Given the description of an element on the screen output the (x, y) to click on. 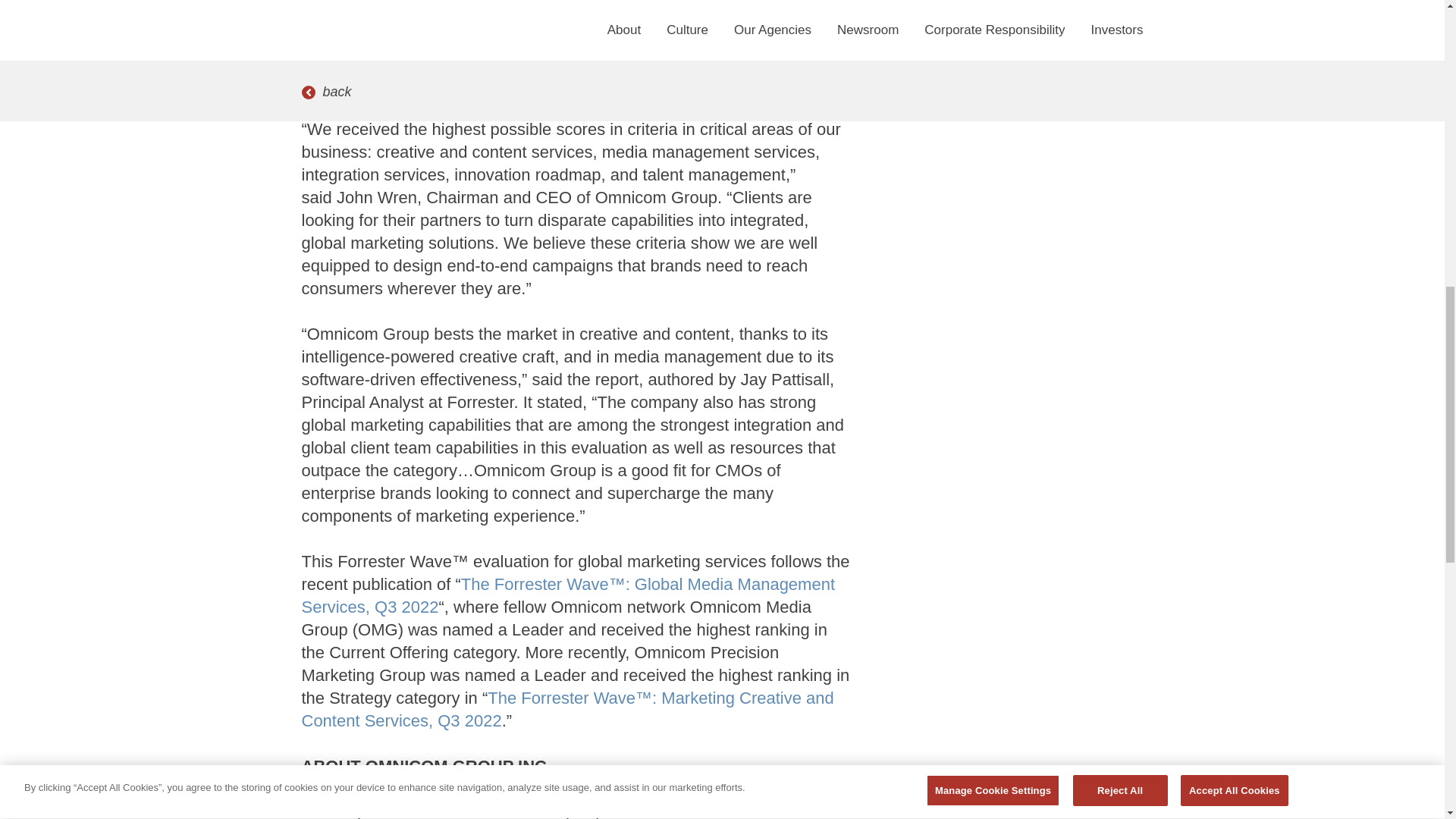
www.omnicomgroup.com (526, 788)
